Given the description of an element on the screen output the (x, y) to click on. 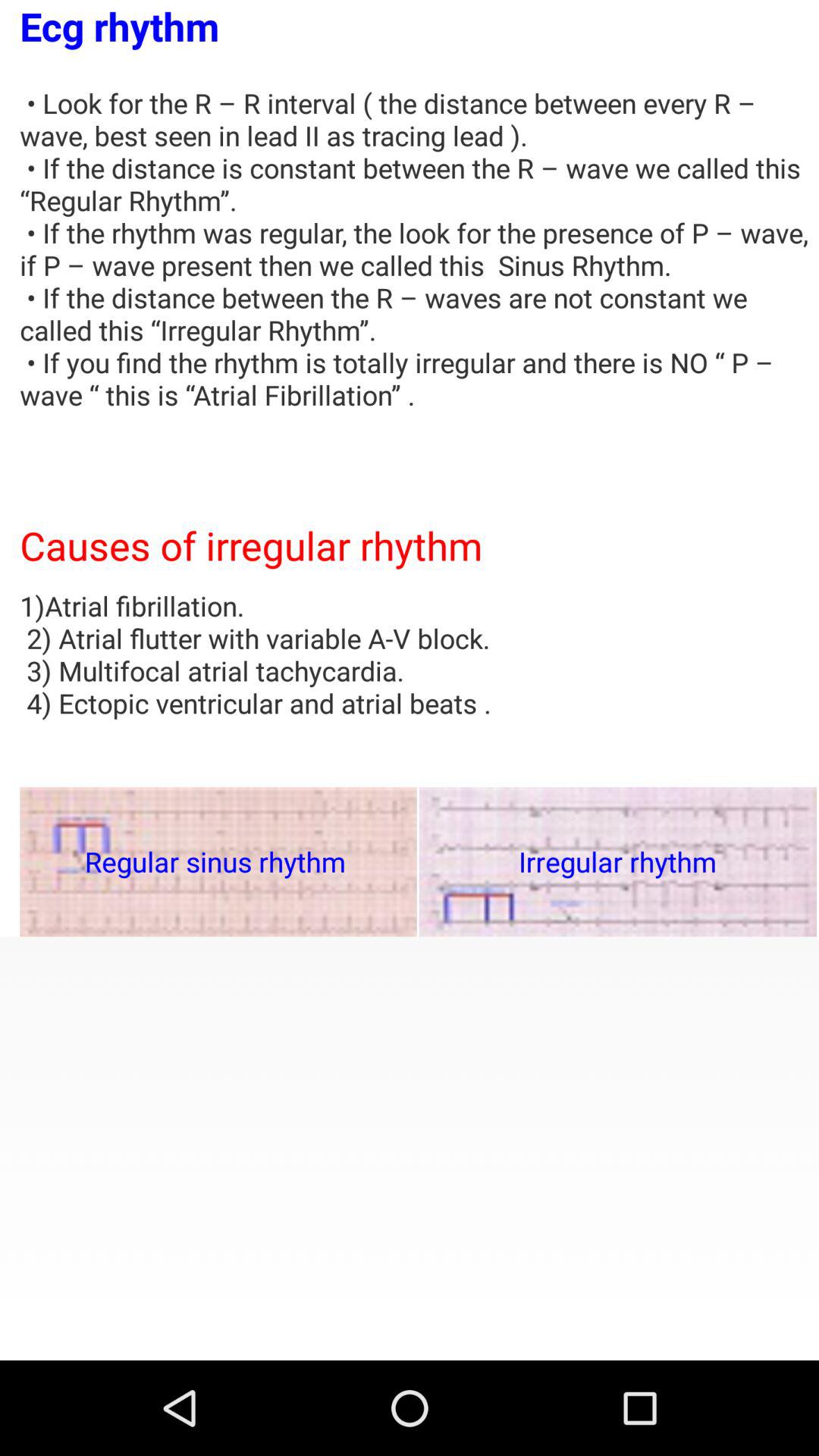
tap regular sinus rhythm (217, 861)
